Given the description of an element on the screen output the (x, y) to click on. 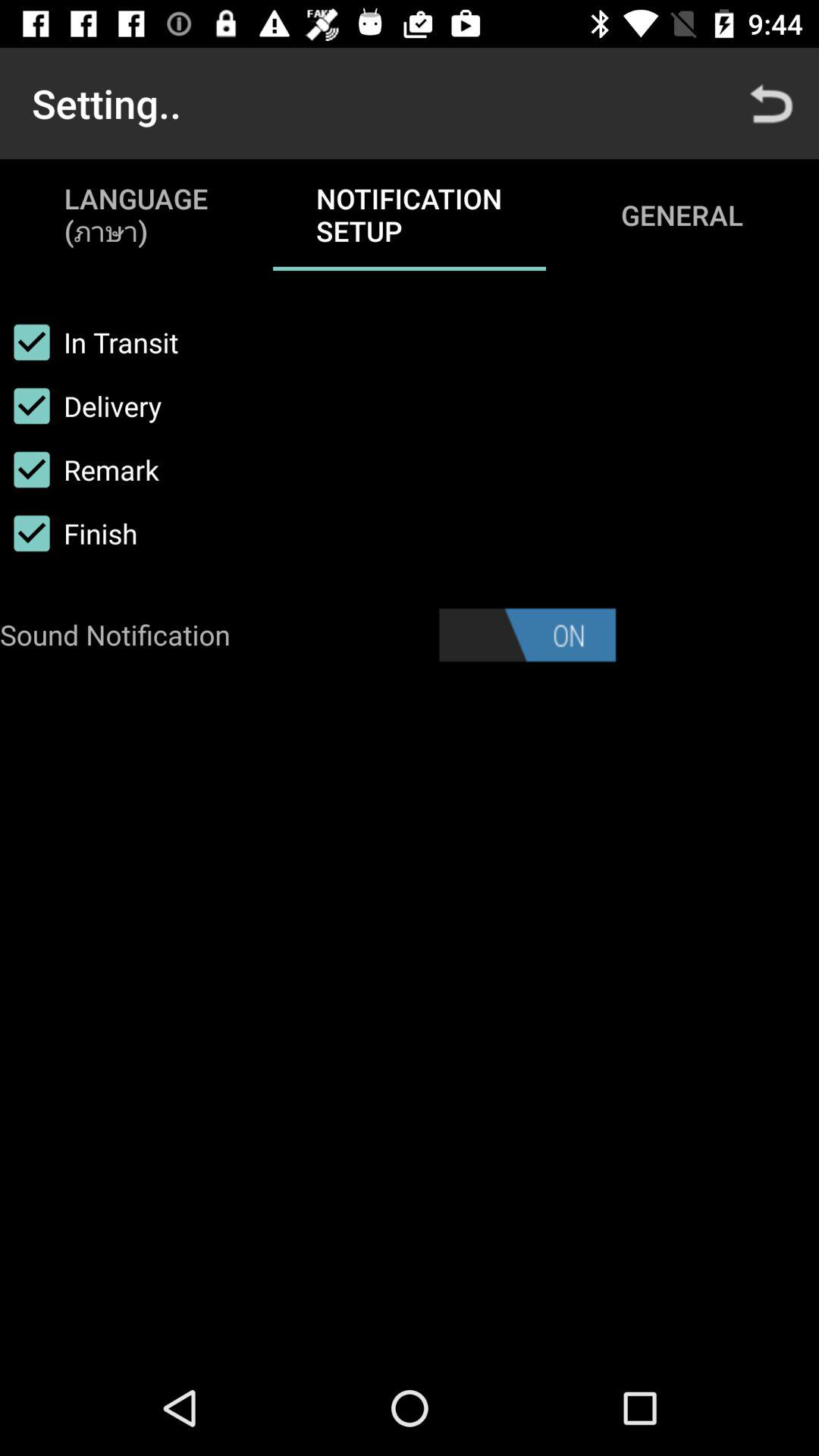
toggle sound option (527, 634)
